Given the description of an element on the screen output the (x, y) to click on. 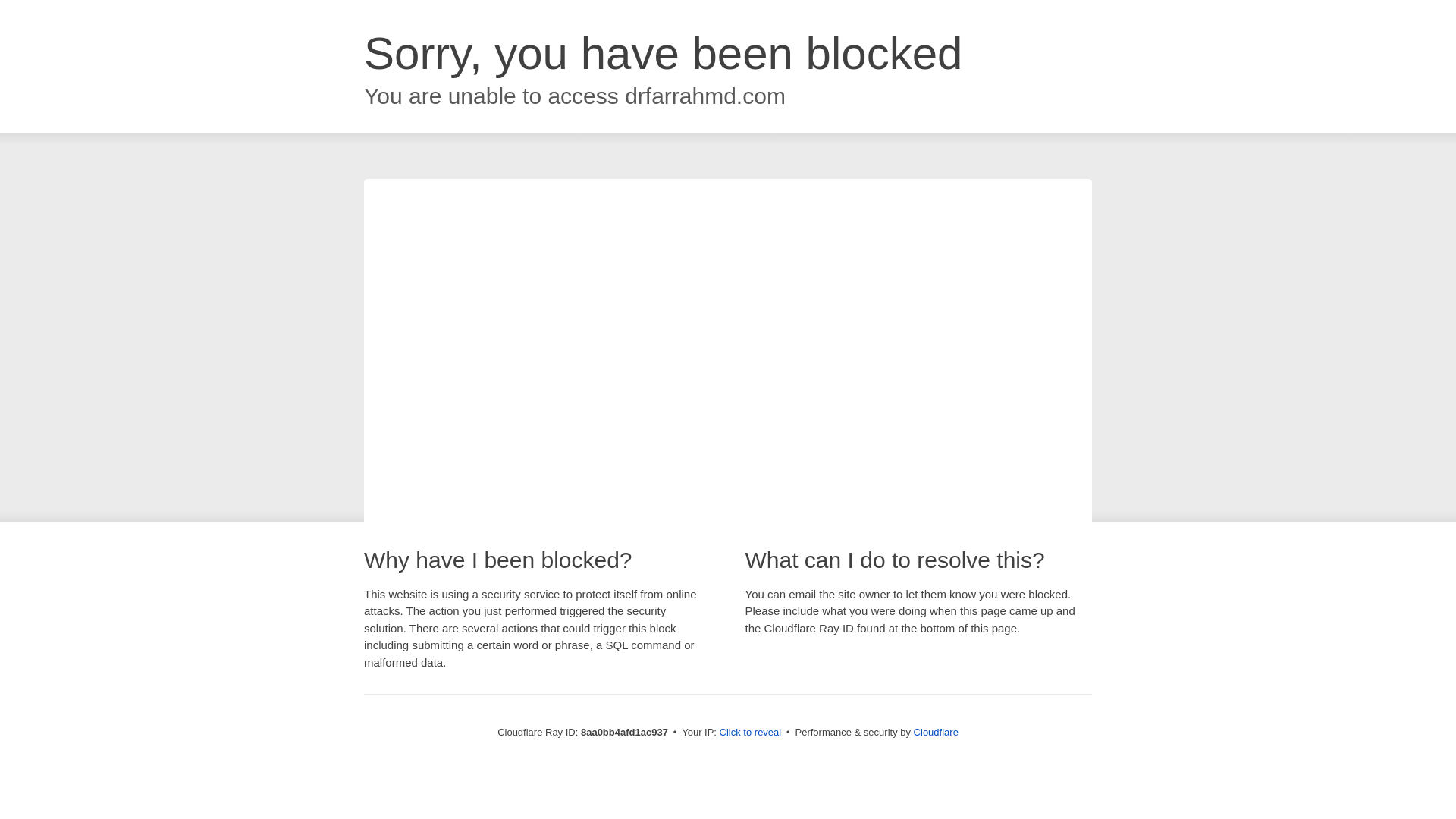
Click to reveal (750, 732)
Cloudflare (936, 731)
